Given the description of an element on the screen output the (x, y) to click on. 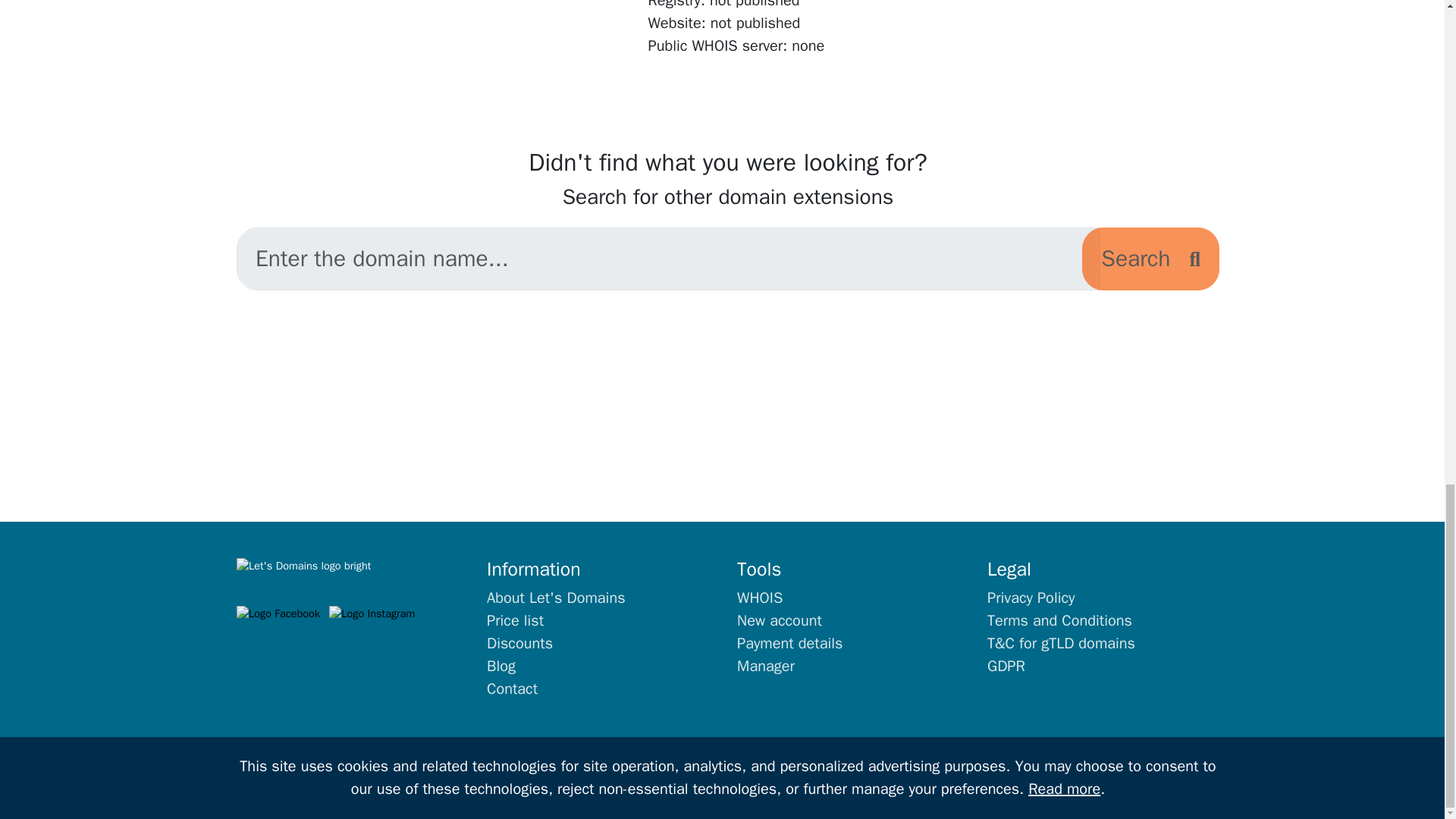
Price list (514, 619)
Privacy Policy (1030, 597)
About Let's Domains (556, 597)
Search (1150, 258)
Blog (500, 665)
Discounts (519, 642)
Payment details (789, 642)
WHOIS (759, 597)
Contact (511, 688)
Manager (765, 665)
